Given the description of an element on the screen output the (x, y) to click on. 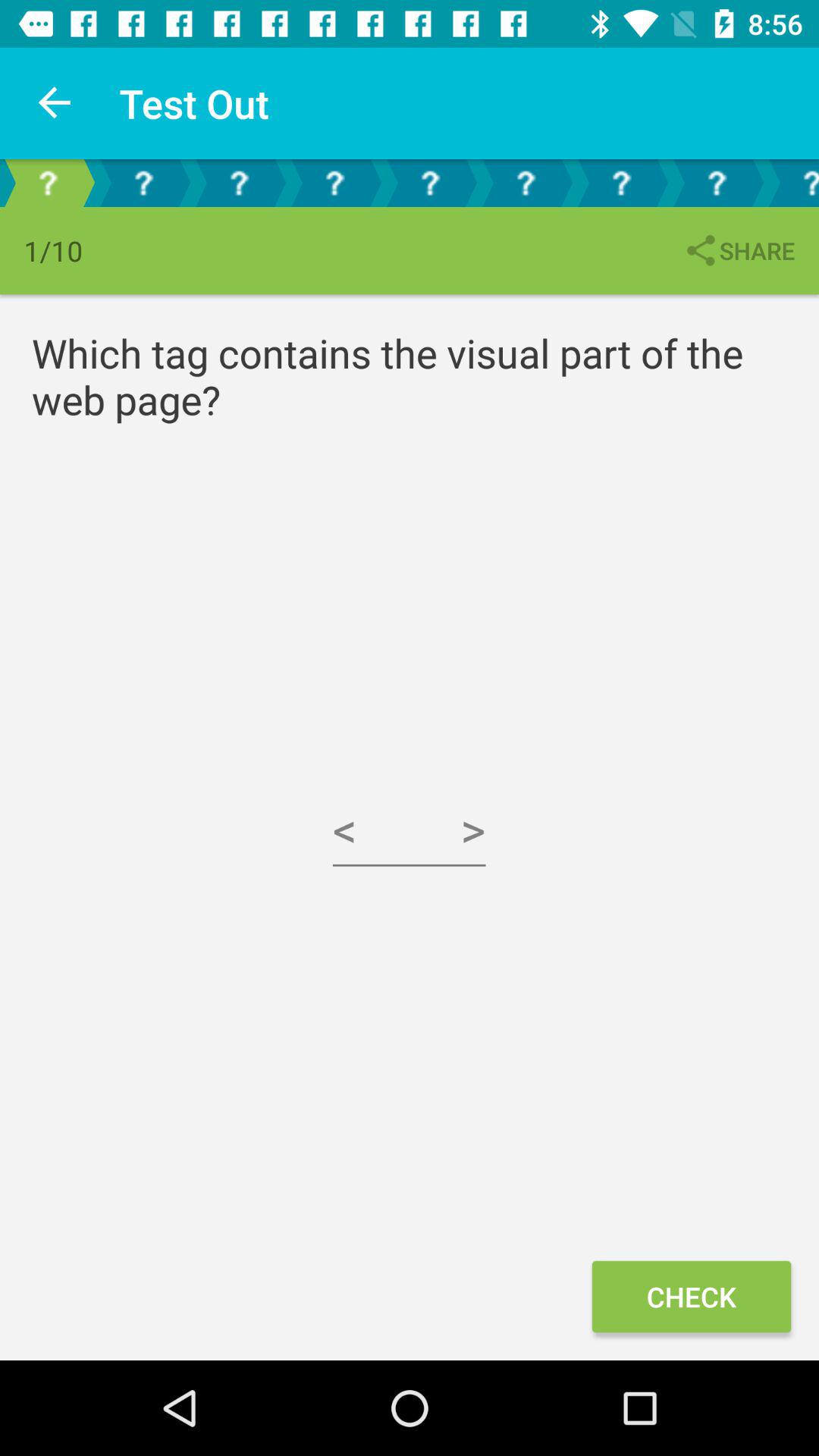
answer the questin (429, 183)
